Given the description of an element on the screen output the (x, y) to click on. 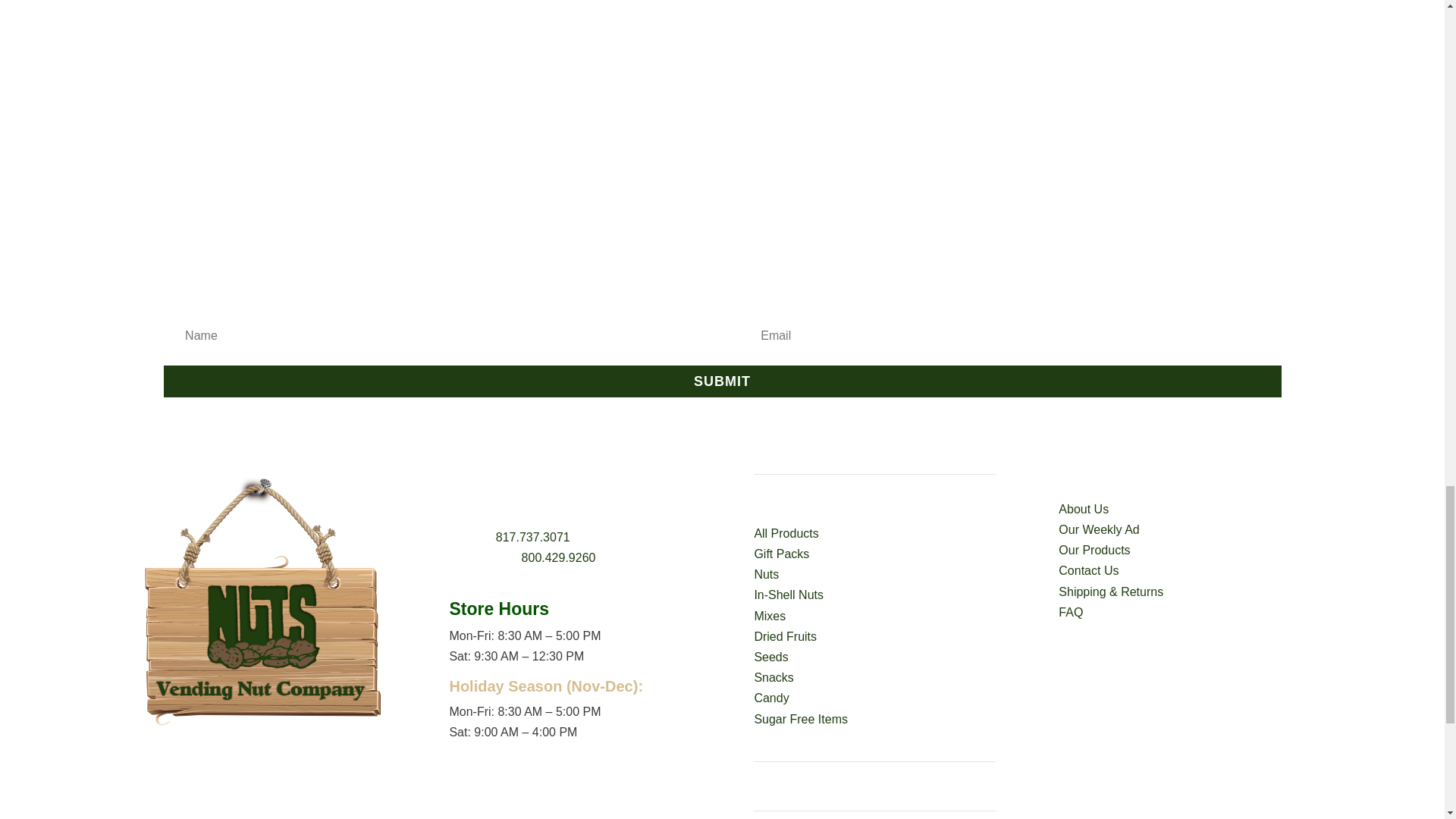
Our Weekly Ad (1098, 529)
Candy (771, 697)
About Us (1083, 508)
Follow on Instagram (279, 768)
Dried Fruits (785, 635)
817.737.3071 (533, 536)
All Products (786, 533)
800.429.9260 (558, 557)
Snacks (773, 676)
Seeds (770, 656)
Gift Packs (781, 553)
Nuts (766, 574)
Contact Us (1088, 570)
Sugar Free Items (800, 718)
FAQ (1070, 612)
